Given the description of an element on the screen output the (x, y) to click on. 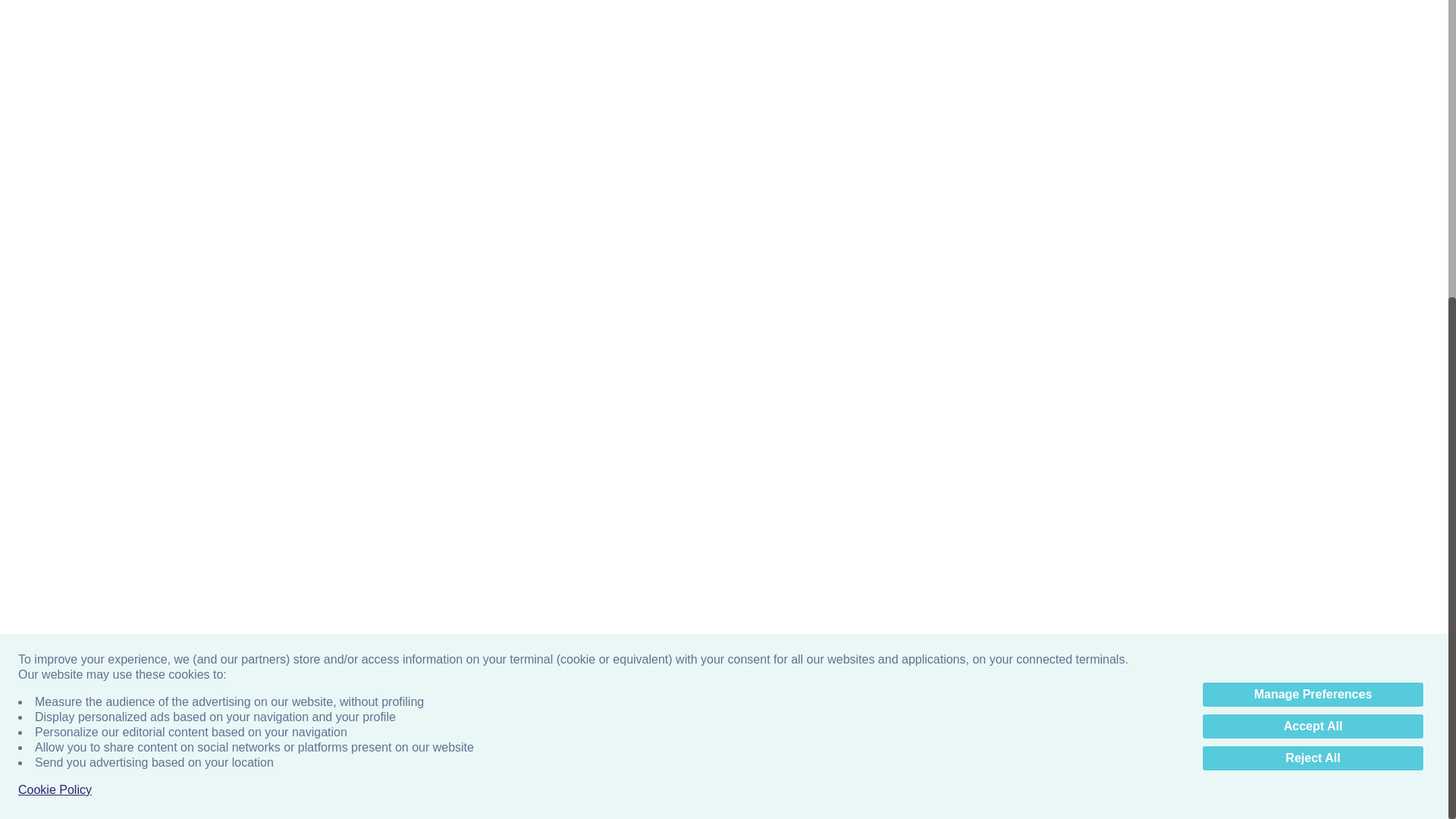
Cookie Policy (54, 322)
Accept All (1312, 258)
Reject All (1312, 290)
Manage Preferences (1312, 227)
